Given the description of an element on the screen output the (x, y) to click on. 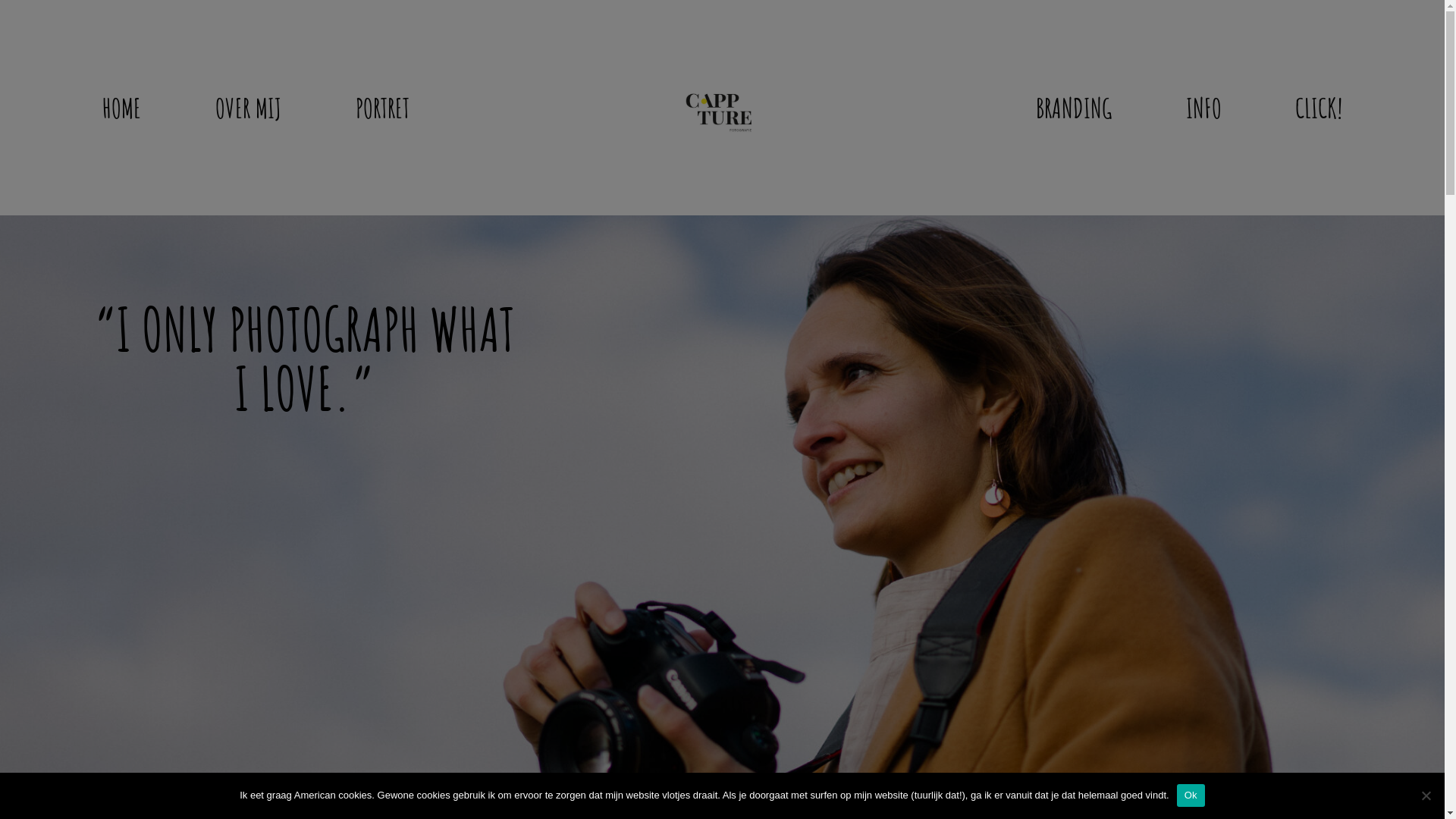
INFO Element type: text (1203, 107)
HOME Element type: text (121, 107)
Ok Element type: text (1190, 795)
BRANDING Element type: text (1073, 107)
OVER MIJ Element type: text (248, 107)
Nee Element type: hover (1425, 795)
PORTRET Element type: text (382, 107)
CLICK! Element type: text (1318, 107)
